Given the description of an element on the screen output the (x, y) to click on. 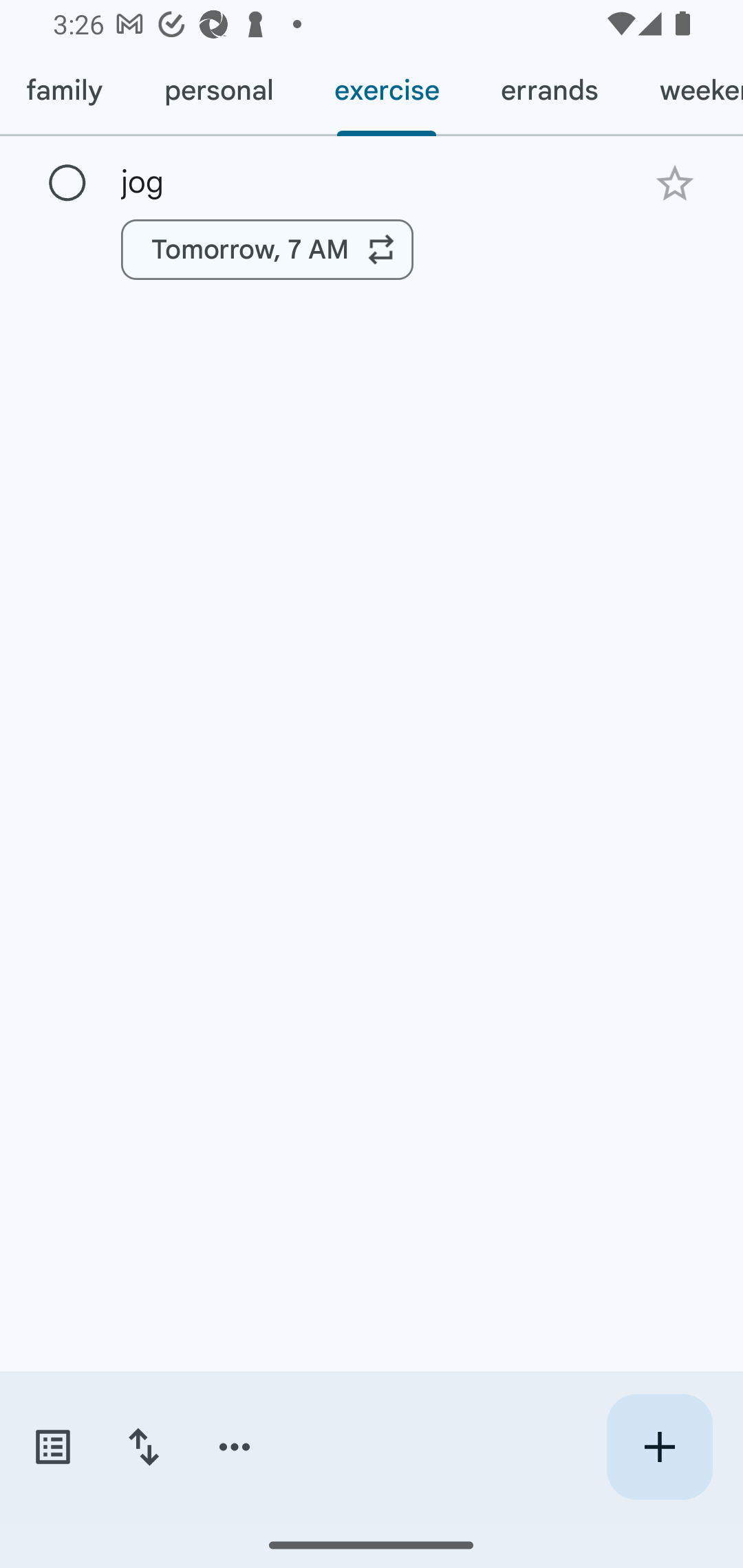
family (66, 90)
personal (218, 90)
errands (548, 90)
weekend (685, 90)
Add star (674, 182)
Mark as complete (67, 183)
Tomorrow, 7 AM (267, 248)
Switch task lists (52, 1447)
Create new task (659, 1446)
Change sort order (143, 1446)
More options (234, 1446)
